Given the description of an element on the screen output the (x, y) to click on. 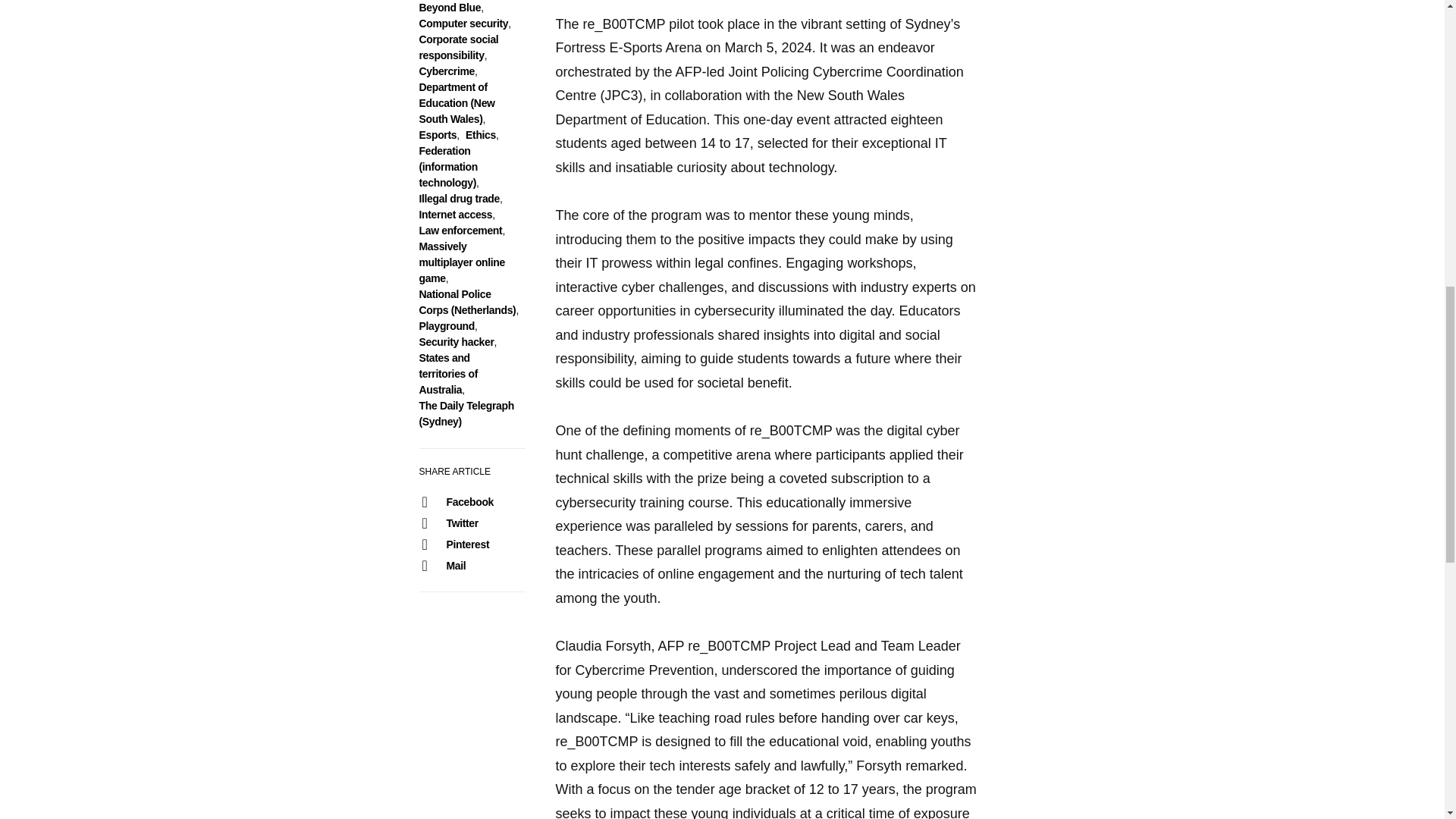
Beyond Blue (449, 7)
Law enforcement (460, 230)
Computer security (463, 23)
Cybercrime (446, 70)
Esports (438, 134)
Internet access (455, 214)
Illegal drug trade (459, 198)
Corporate social responsibility (458, 47)
Ethics (480, 134)
